Given the description of an element on the screen output the (x, y) to click on. 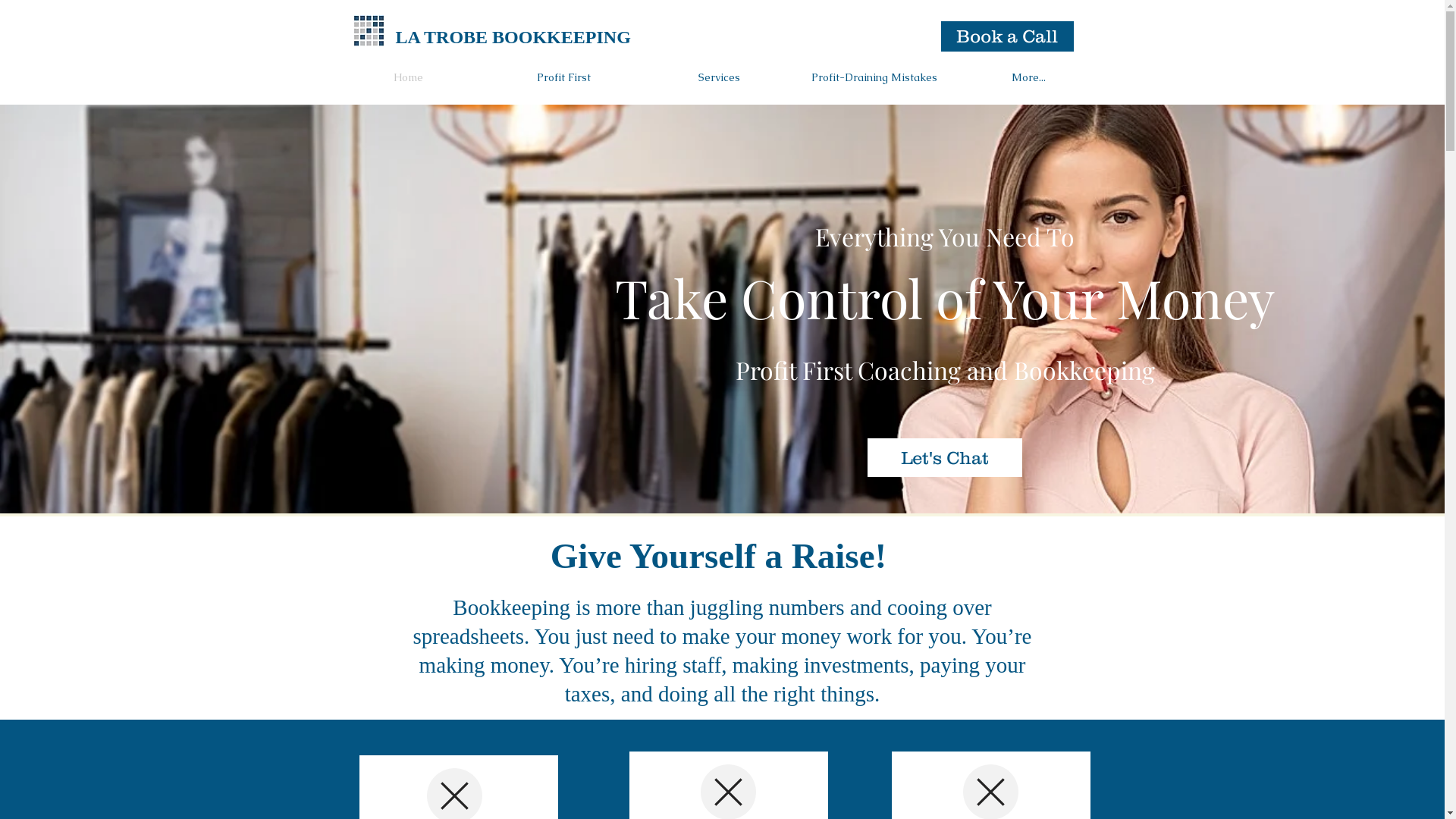
Home Element type: text (408, 76)
Let's Chat Element type: text (944, 457)
Profit First Element type: text (562, 76)
Profit-Draining Mistakes Element type: text (873, 76)
Services Element type: text (719, 76)
Book a Call Element type: text (1006, 36)
Bookkeeping Perth Element type: hover (368, 30)
